Given the description of an element on the screen output the (x, y) to click on. 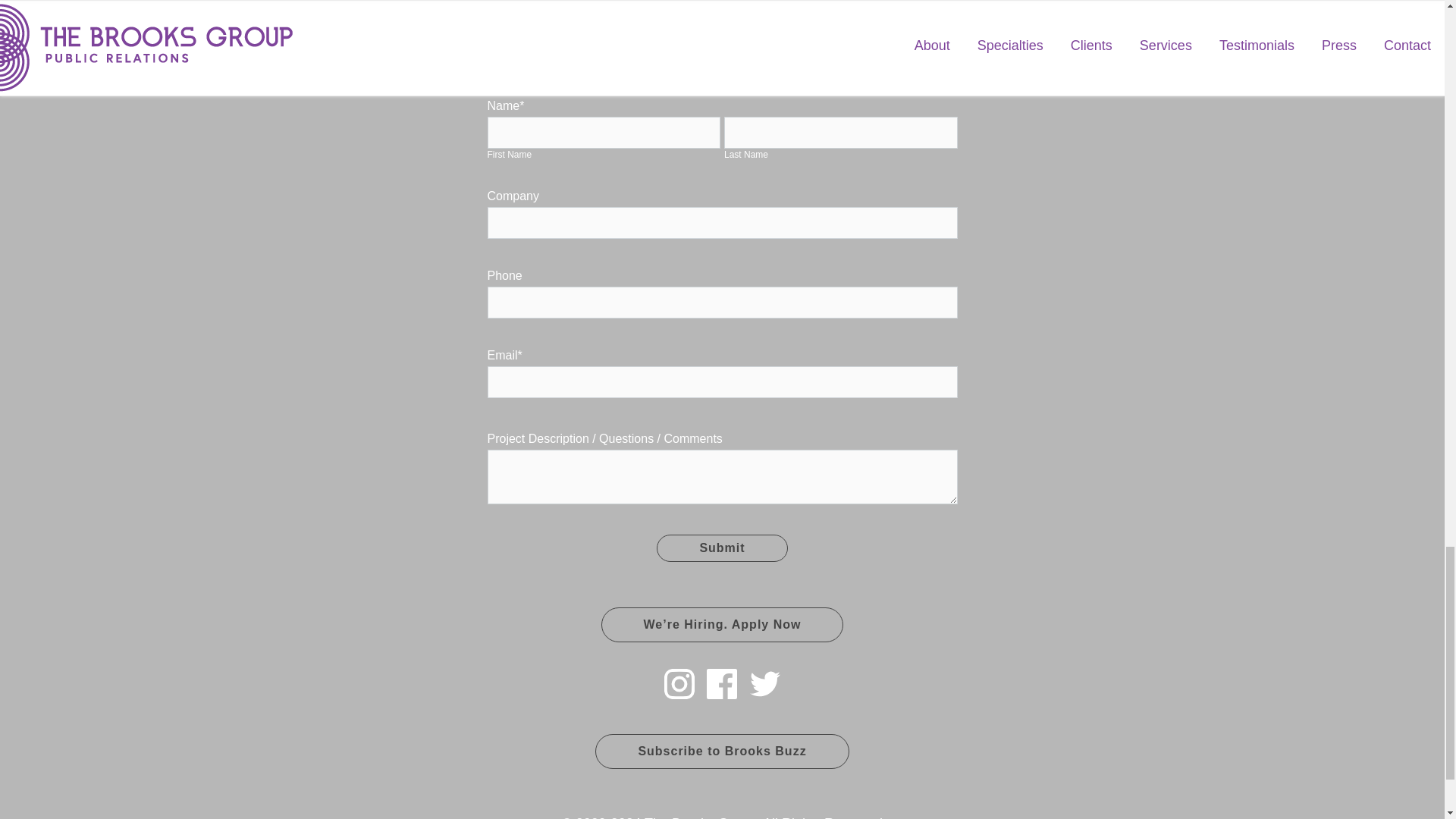
Submit (721, 547)
Subscribe to Brooks Buzz (721, 751)
